Given the description of an element on the screen output the (x, y) to click on. 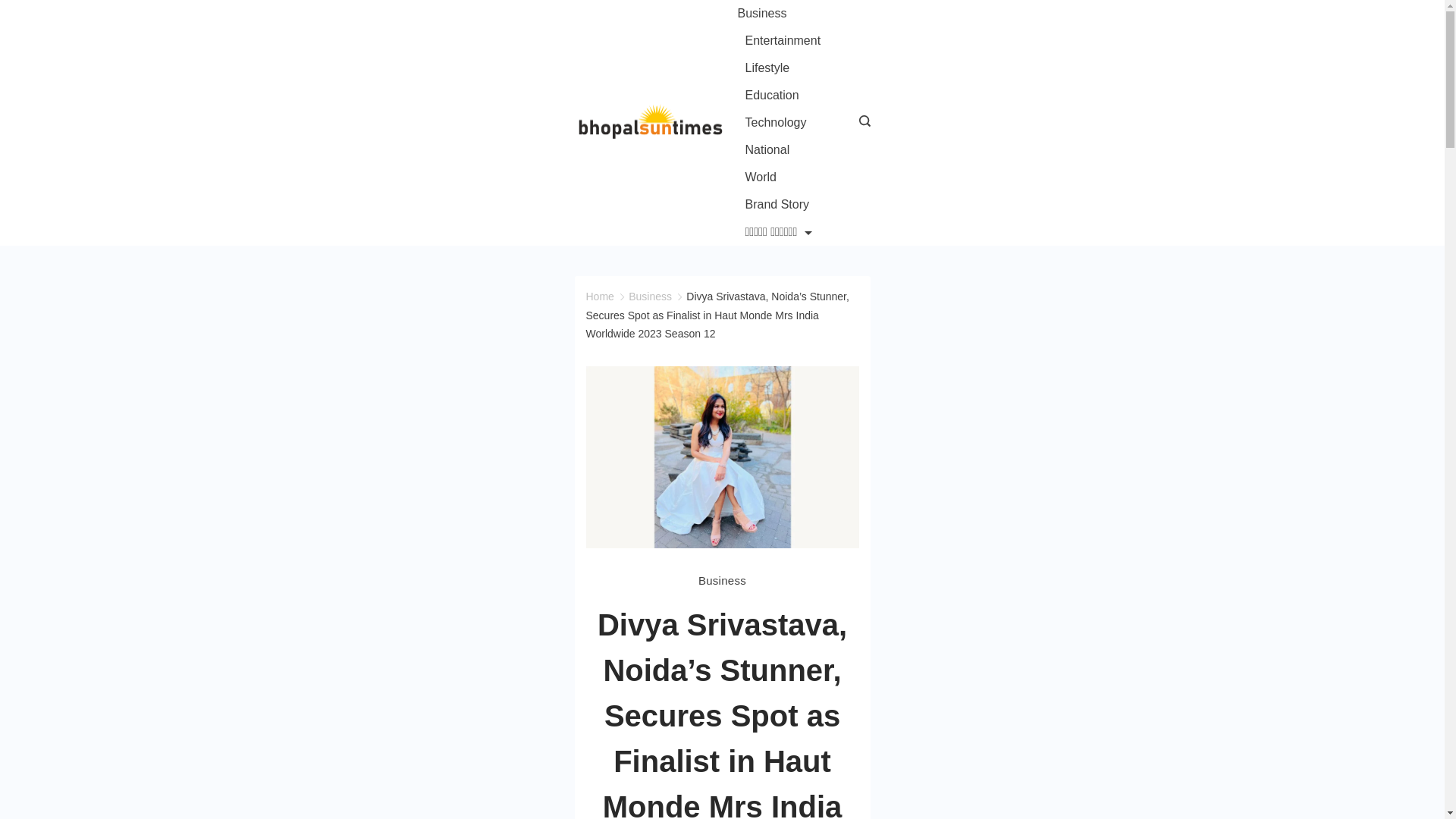
National (766, 149)
Business (764, 13)
Entertainment (782, 40)
Brand Story (775, 204)
Home (598, 296)
Business (649, 296)
Lifestyle (766, 67)
Business (721, 580)
World (760, 176)
Technology (774, 122)
